Given the description of an element on the screen output the (x, y) to click on. 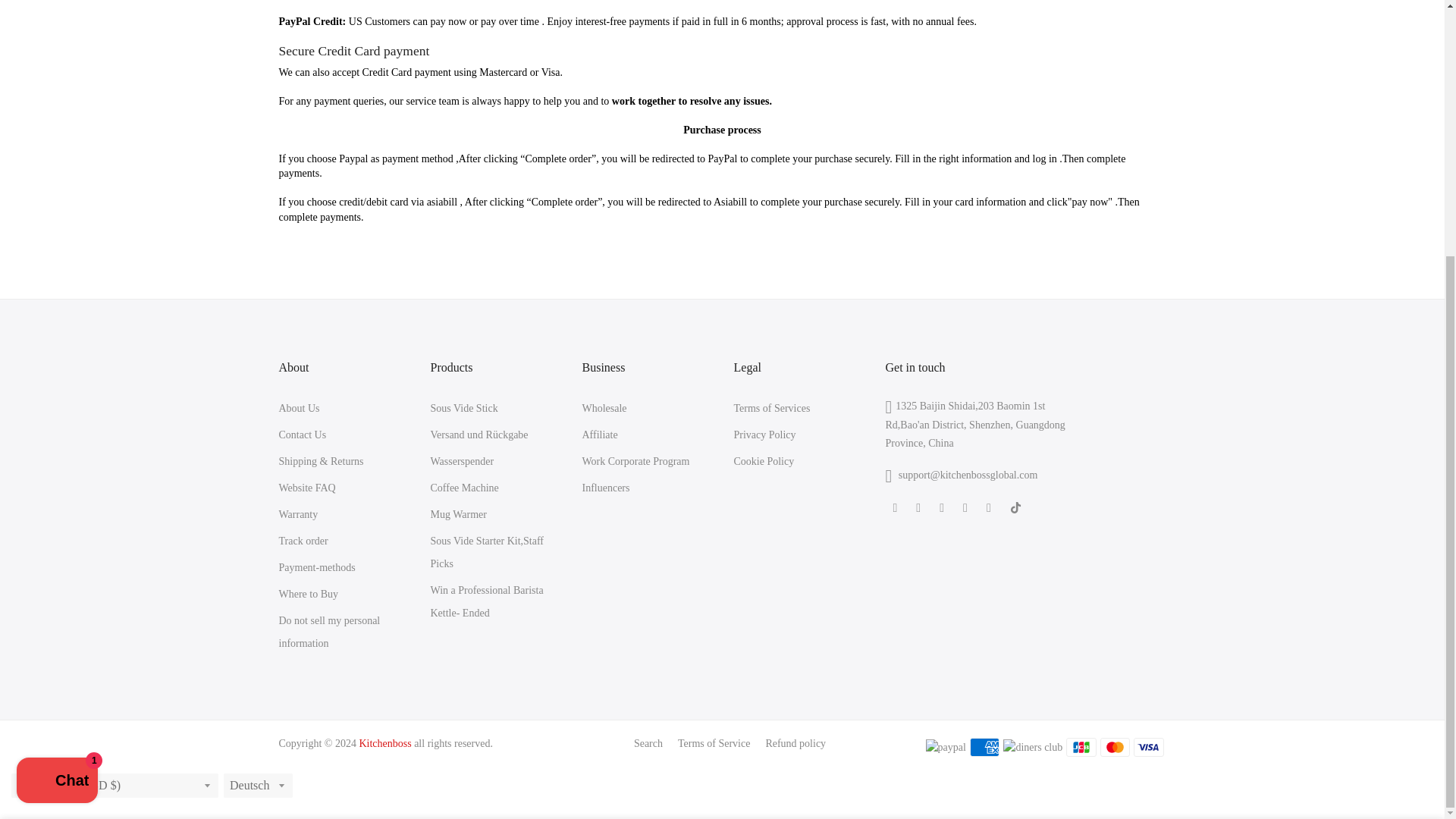
Win a Professional Barista Kettle- Ended (486, 601)
Coffee Machine (464, 487)
Sous Vide Starter Kit,Staff Picks (487, 552)
Website FAQ (307, 487)
Contact Us (302, 434)
Sous Vide Stick (463, 408)
Payment-methods (317, 567)
Mug Warmer (458, 514)
About Us (299, 408)
Wholesale (604, 408)
Where to Buy (309, 593)
Onlineshop-Chat von Shopify (56, 418)
Do not sell my personal information (329, 632)
Wasserspender (462, 460)
Warranty (298, 514)
